Given the description of an element on the screen output the (x, y) to click on. 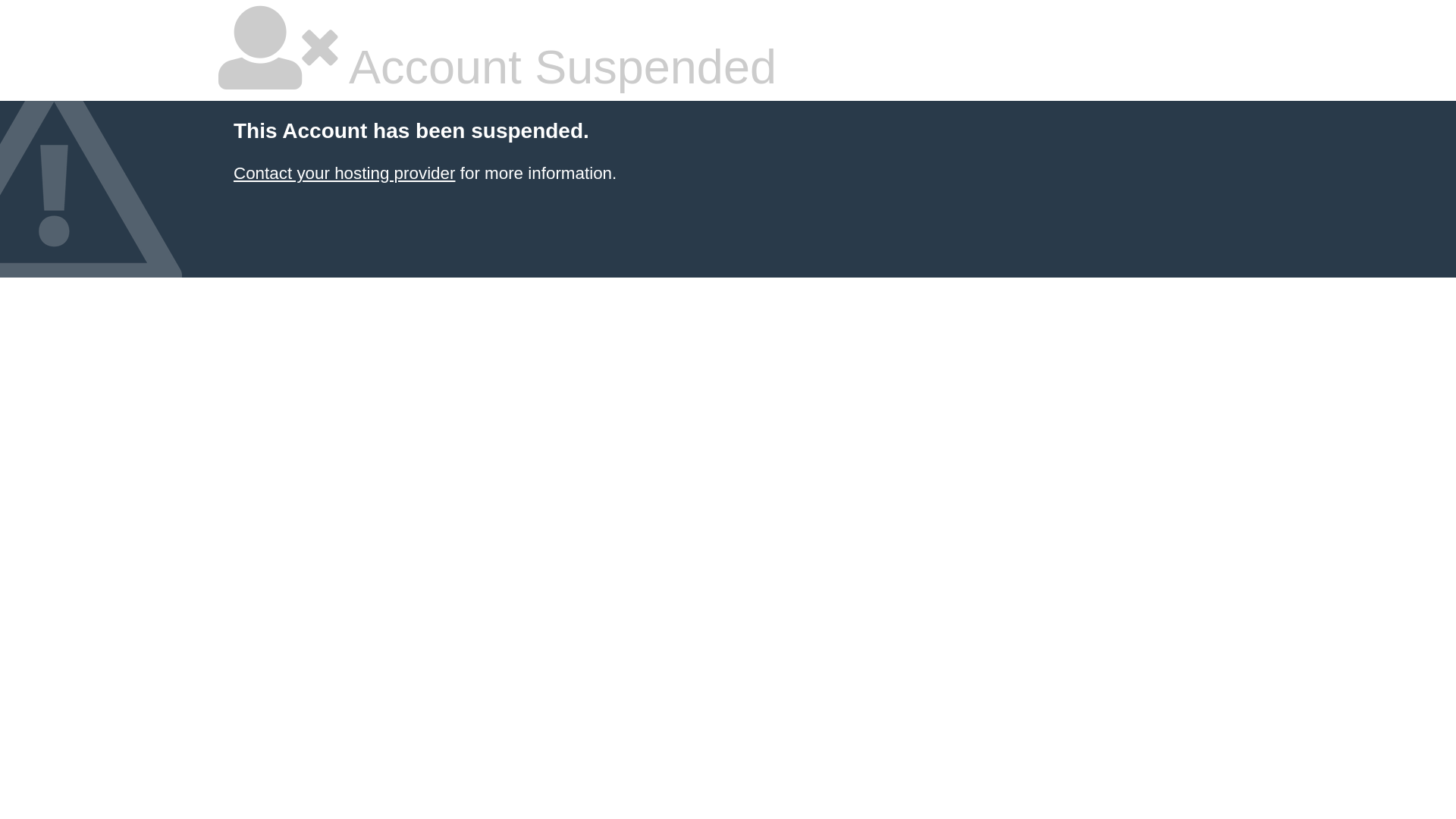
Contact your hosting provider Element type: text (344, 172)
